Given the description of an element on the screen output the (x, y) to click on. 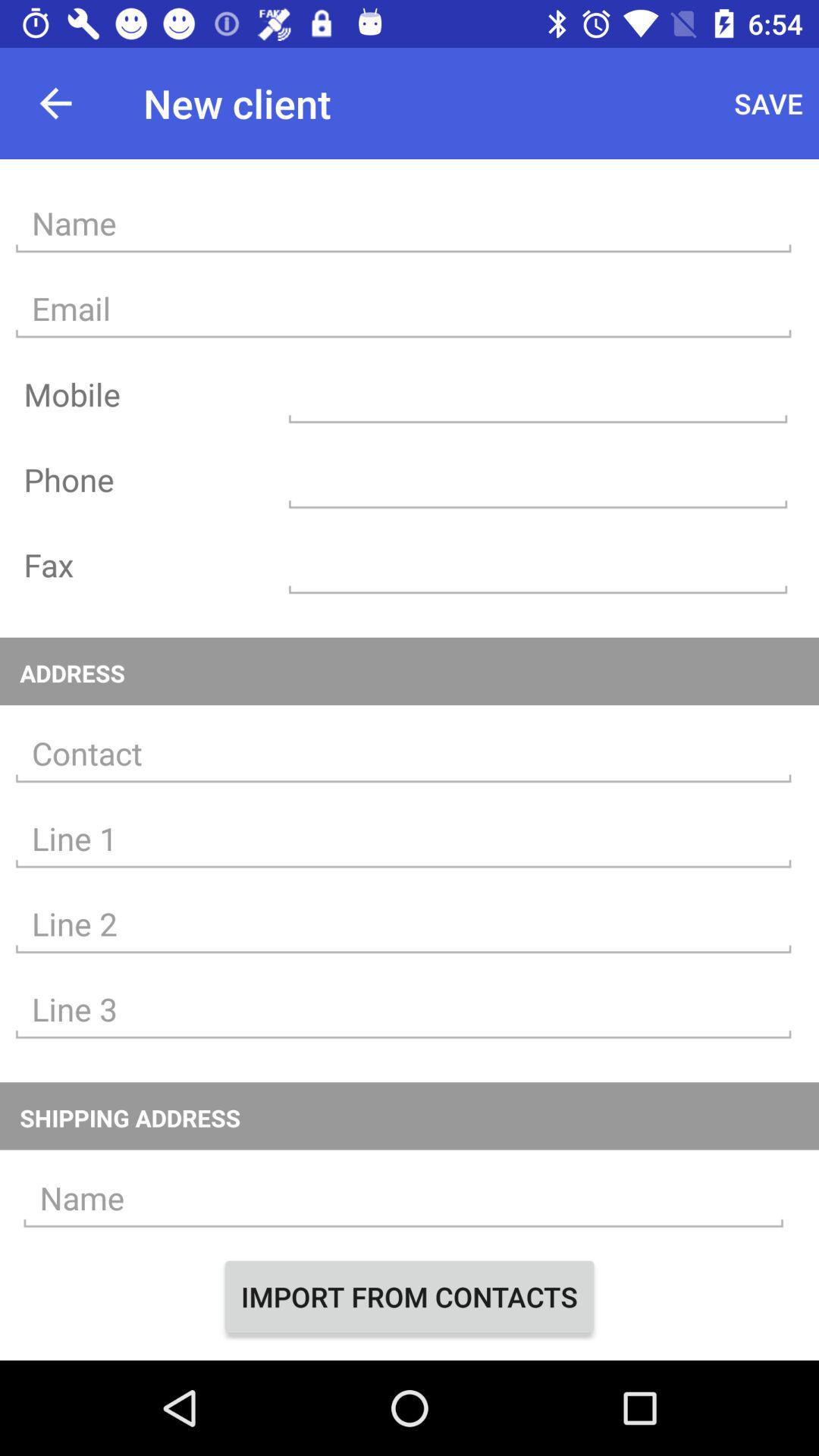
select address line 2 (403, 924)
